Given the description of an element on the screen output the (x, y) to click on. 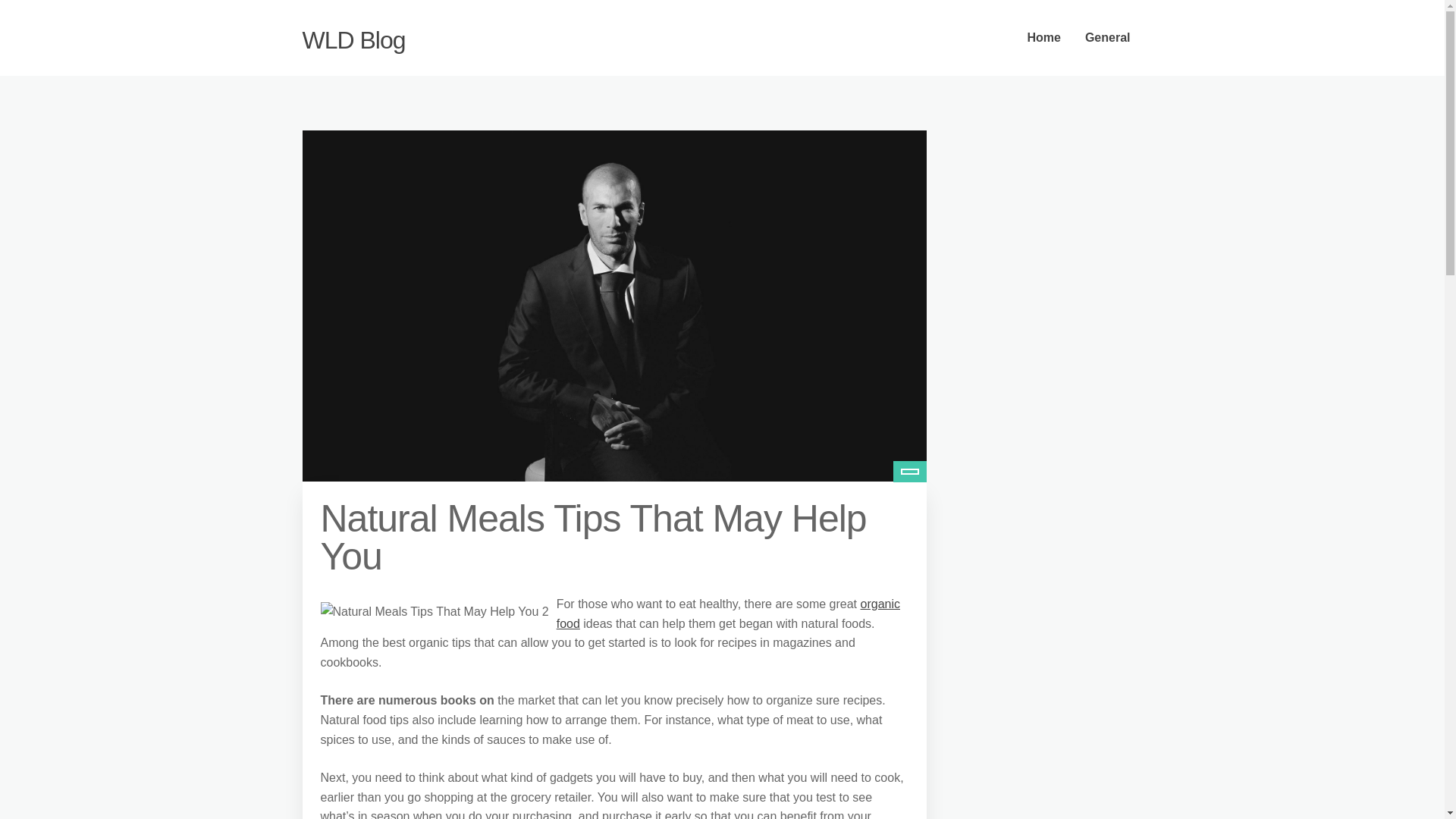
General (1107, 37)
Home (1042, 37)
organic food (727, 613)
WLD Blog (352, 39)
